Given the description of an element on the screen output the (x, y) to click on. 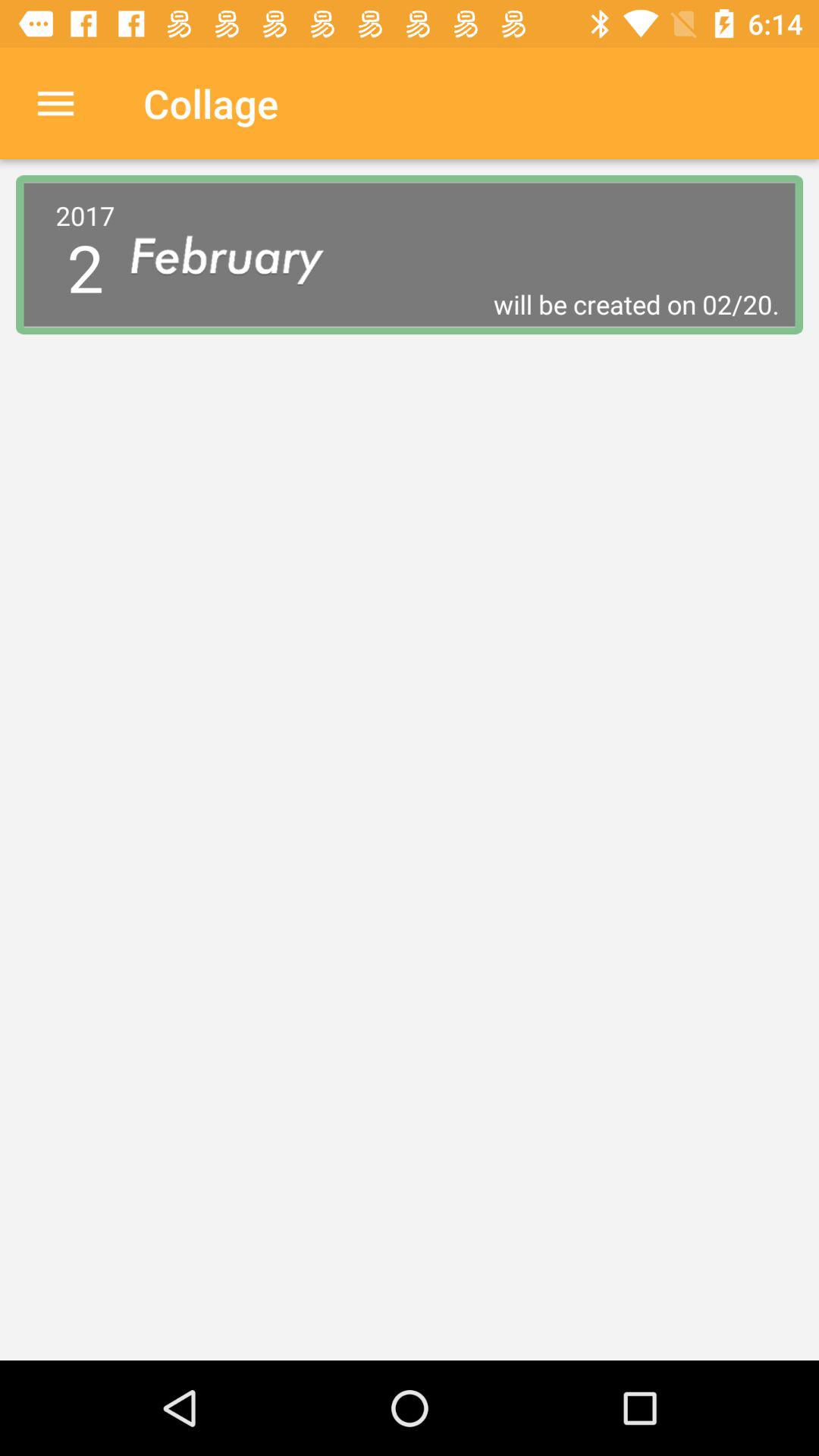
click icon next to the collage icon (55, 103)
